Given the description of an element on the screen output the (x, y) to click on. 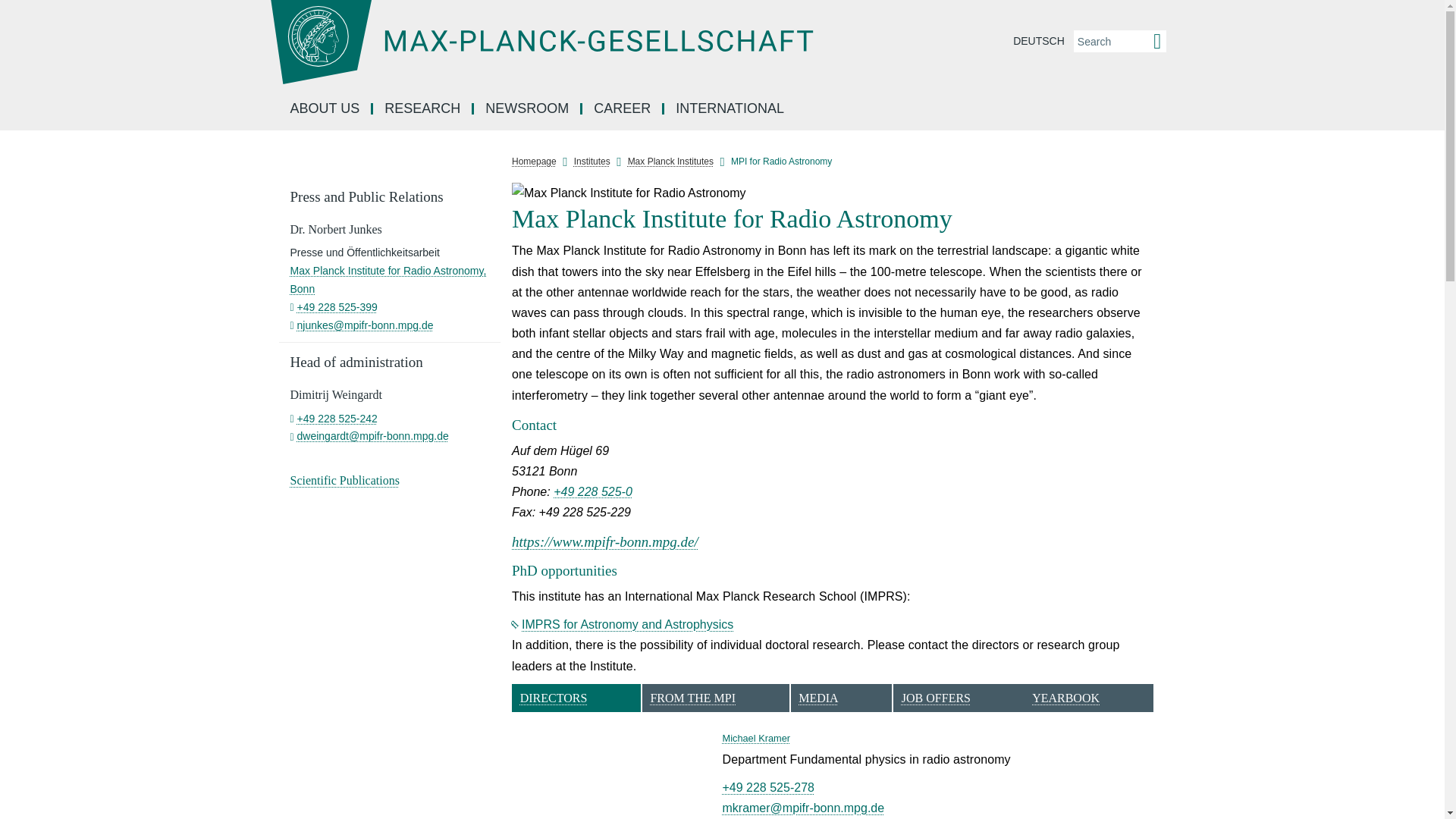
ABOUT US (326, 108)
Max Planck Institute for Radio Astronomy (833, 192)
DEUTSCH (1038, 41)
Michael Kramer (611, 774)
